Given the description of an element on the screen output the (x, y) to click on. 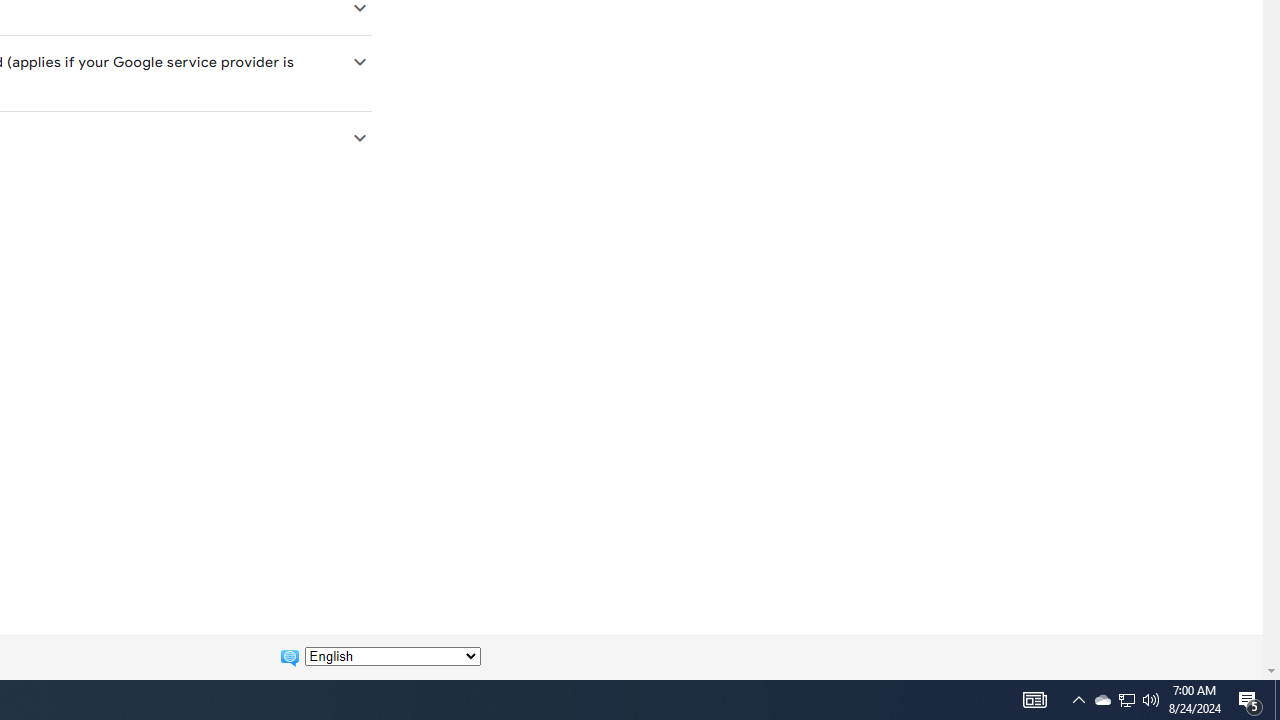
Change language: (392, 656)
